Given the description of an element on the screen output the (x, y) to click on. 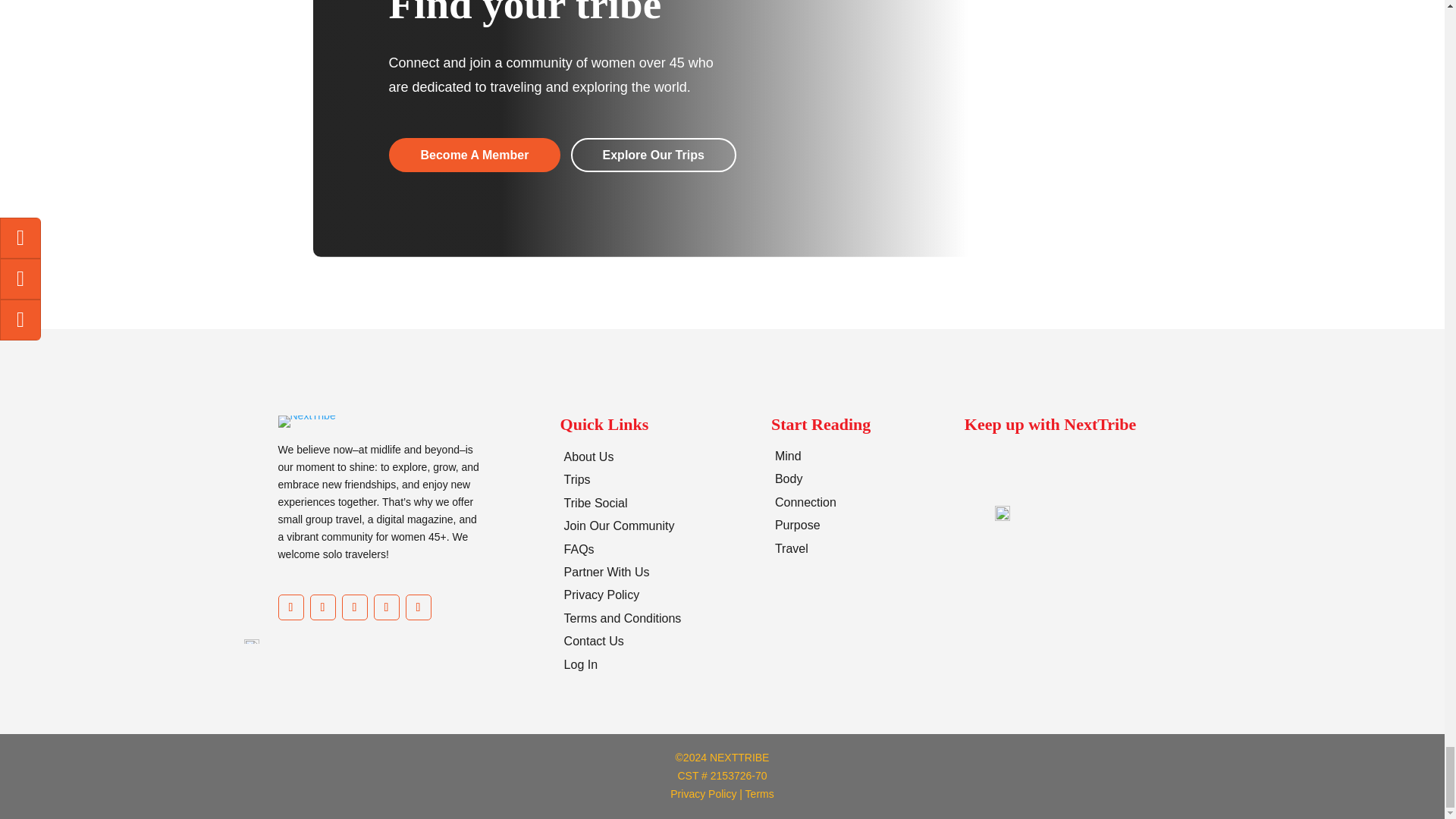
Follow on Youtube (385, 606)
716e96db-8265-4a0b-be47-4aacf573-removebg-preview (306, 421)
Follow on Pinterest (353, 606)
Follow on Facebook (290, 606)
Follow on Instagram (321, 606)
